Given the description of an element on the screen output the (x, y) to click on. 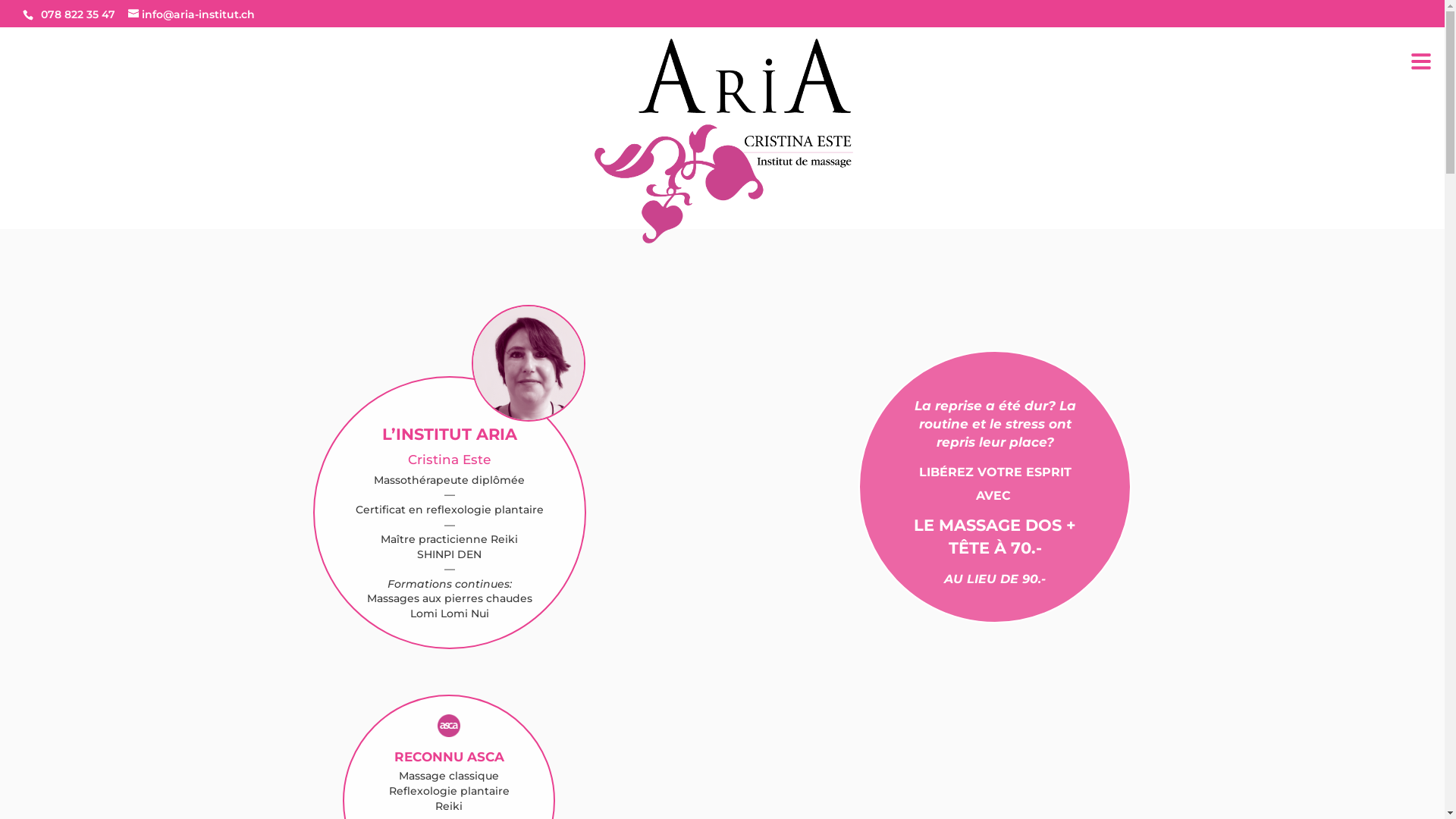
info@aria-institut.ch Element type: text (191, 14)
SKCP6496-var-2 Element type: hover (529, 363)
078 822 35 47 Element type: text (77, 14)
